Given the description of an element on the screen output the (x, y) to click on. 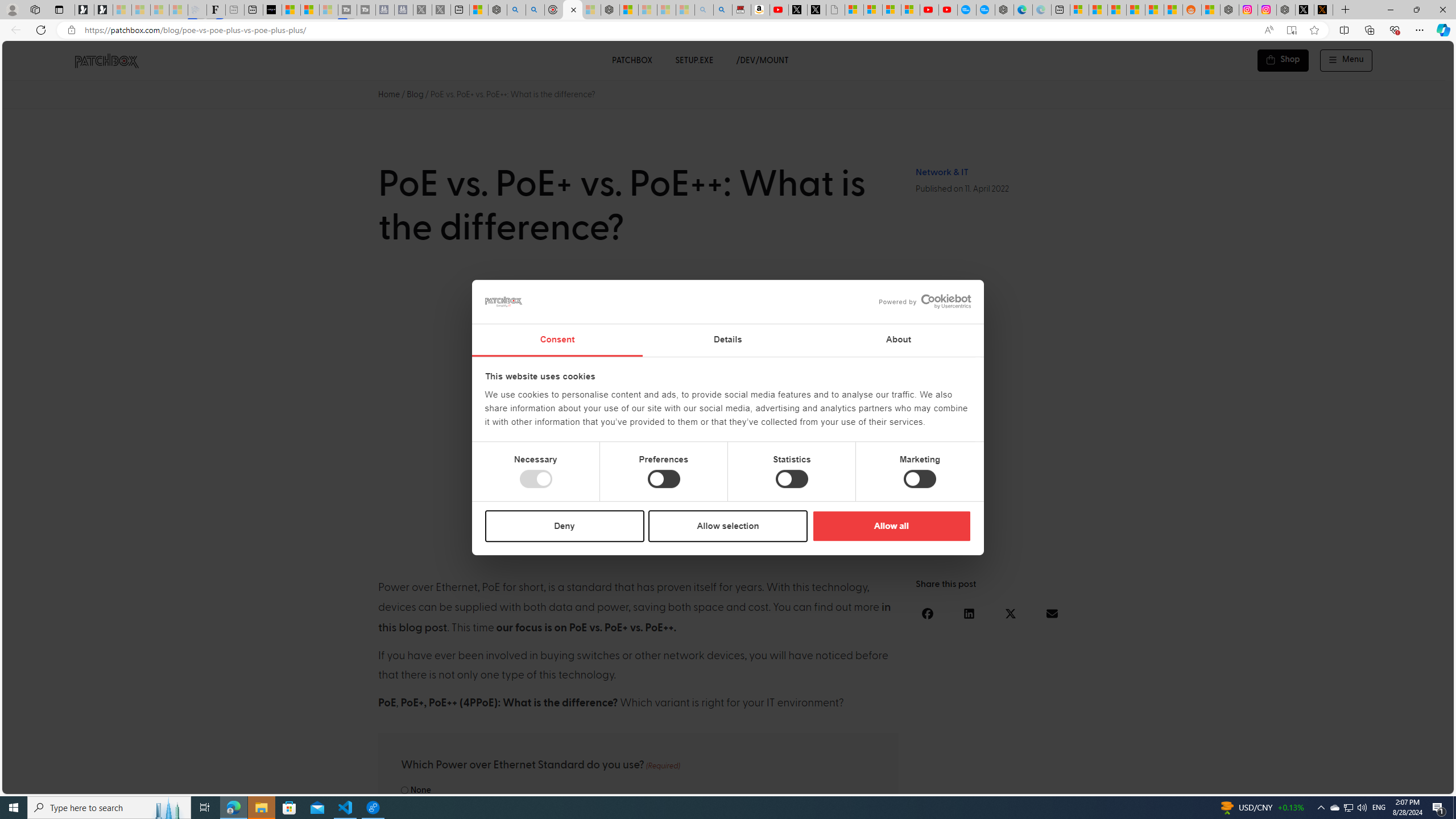
Language switcher : Klingon (1425, 782)
Language switcher : Romanian (1368, 782)
logo (503, 301)
About (898, 340)
Shanghai, China hourly forecast | Microsoft Weather (1116, 9)
PoE vs. PoE+ vs. PoE++ (727, 413)
Language switcher : Portuguese (1401, 782)
Details (727, 340)
